Given the description of an element on the screen output the (x, y) to click on. 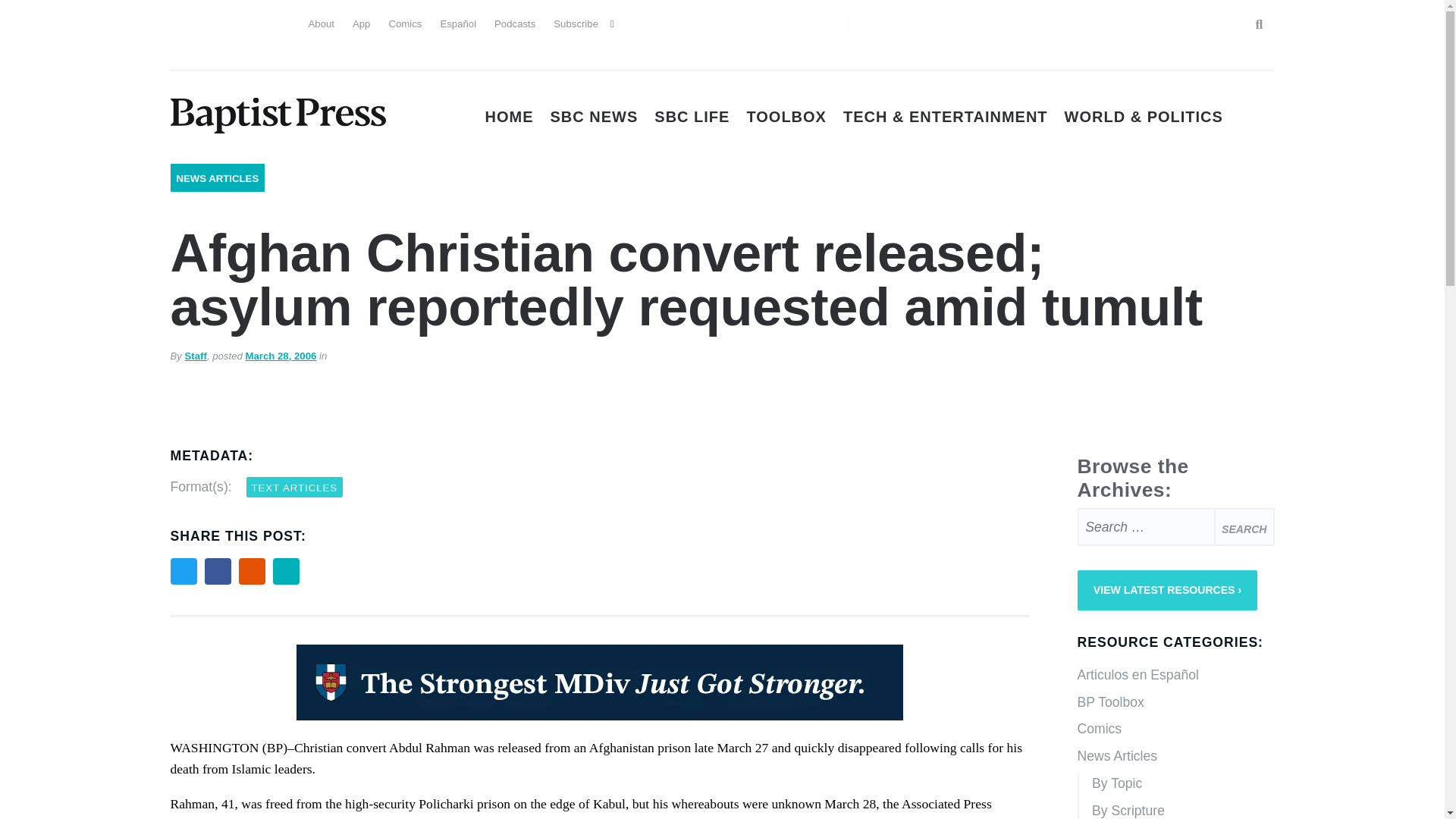
About (320, 23)
Staff (195, 355)
Search (1251, 24)
SBC NEWS (594, 116)
Search (1244, 526)
Spanish (209, 21)
Portuguese (237, 21)
App (360, 23)
TOOLBOX (786, 116)
Comics (405, 23)
Search (1244, 526)
BP Toolbox (1175, 703)
French (263, 21)
